Given the description of an element on the screen output the (x, y) to click on. 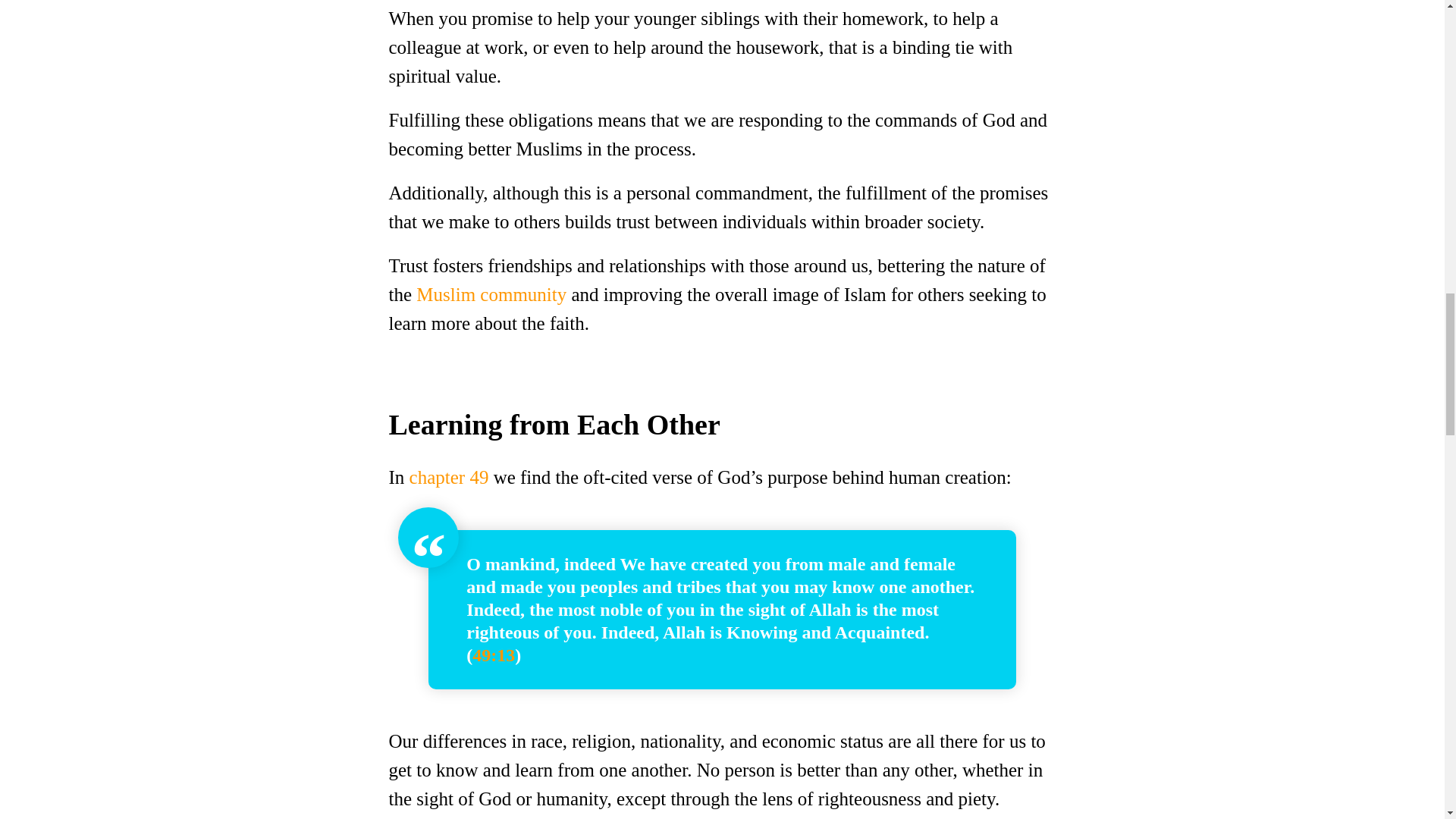
Muslim community (491, 294)
chapter 49 (449, 476)
49:13 (493, 655)
